Given the description of an element on the screen output the (x, y) to click on. 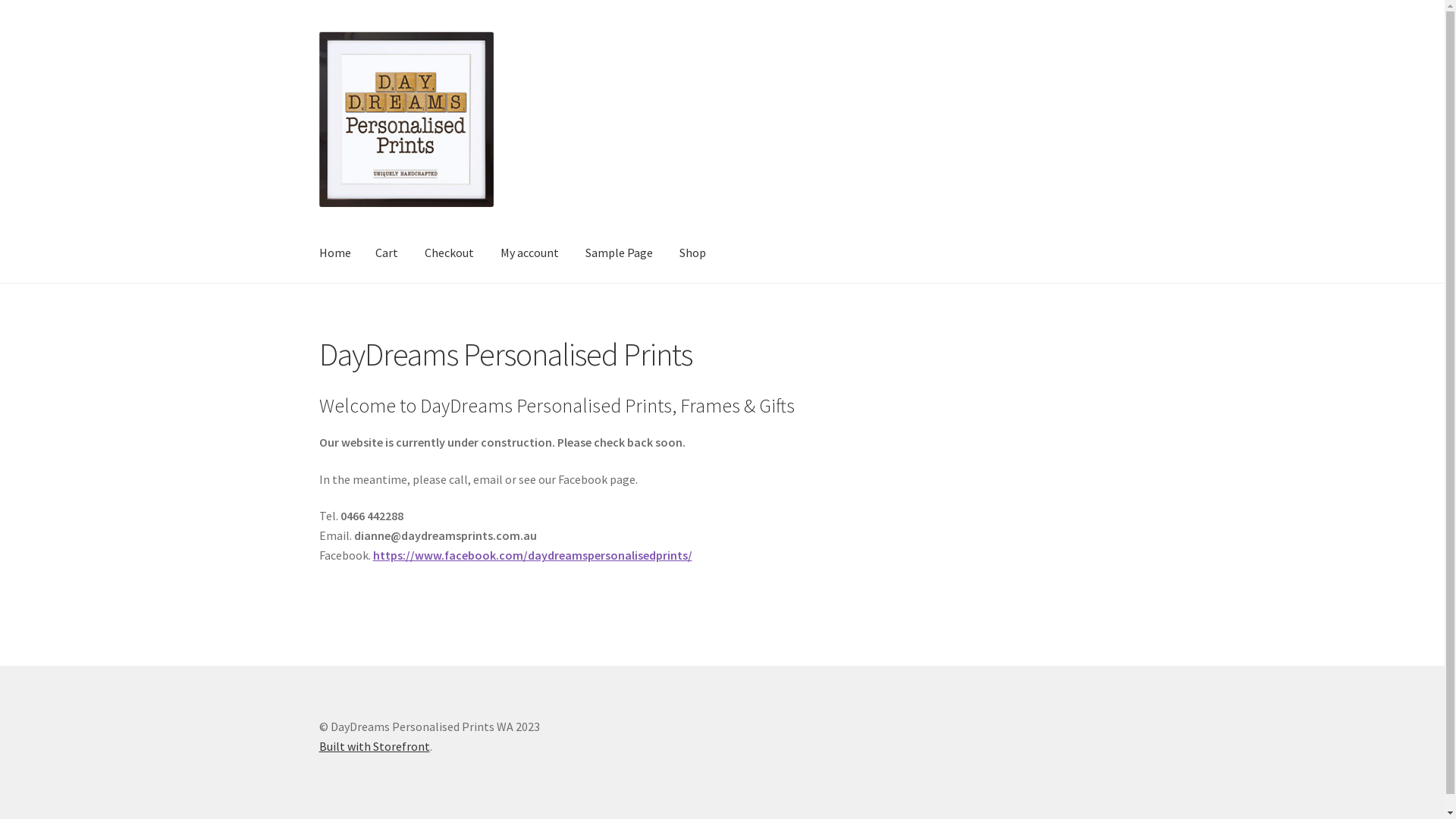
Home Element type: text (335, 252)
My account Element type: text (529, 252)
Cart Element type: text (386, 252)
Checkout Element type: text (449, 252)
Sample Page Element type: text (619, 252)
https://www.facebook.com/daydreamspersonalisedprints/ Element type: text (532, 554)
Built with Storefront Element type: text (374, 745)
Skip to navigation Element type: text (318, 31)
Shop Element type: text (692, 252)
